Given the description of an element on the screen output the (x, y) to click on. 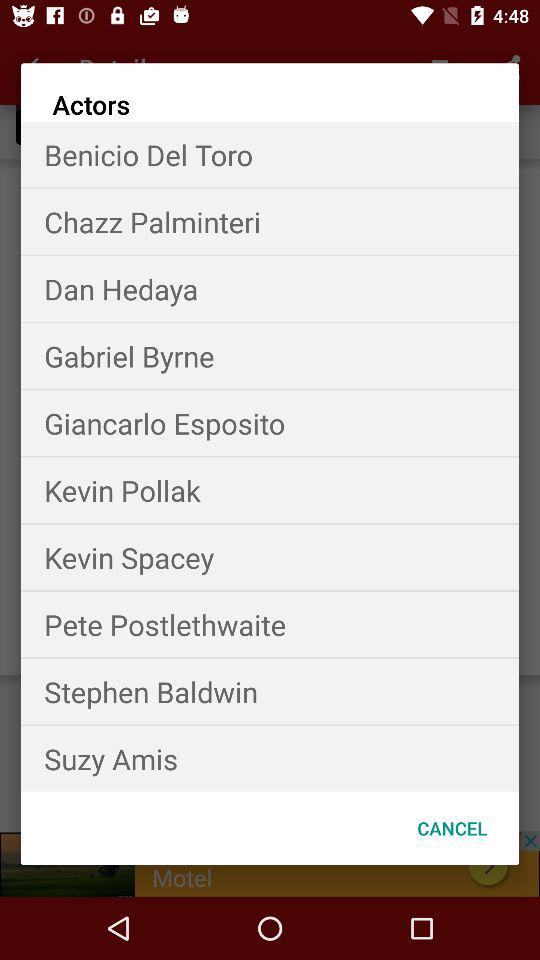
turn off item above    dan hedaya icon (269, 221)
